Given the description of an element on the screen output the (x, y) to click on. 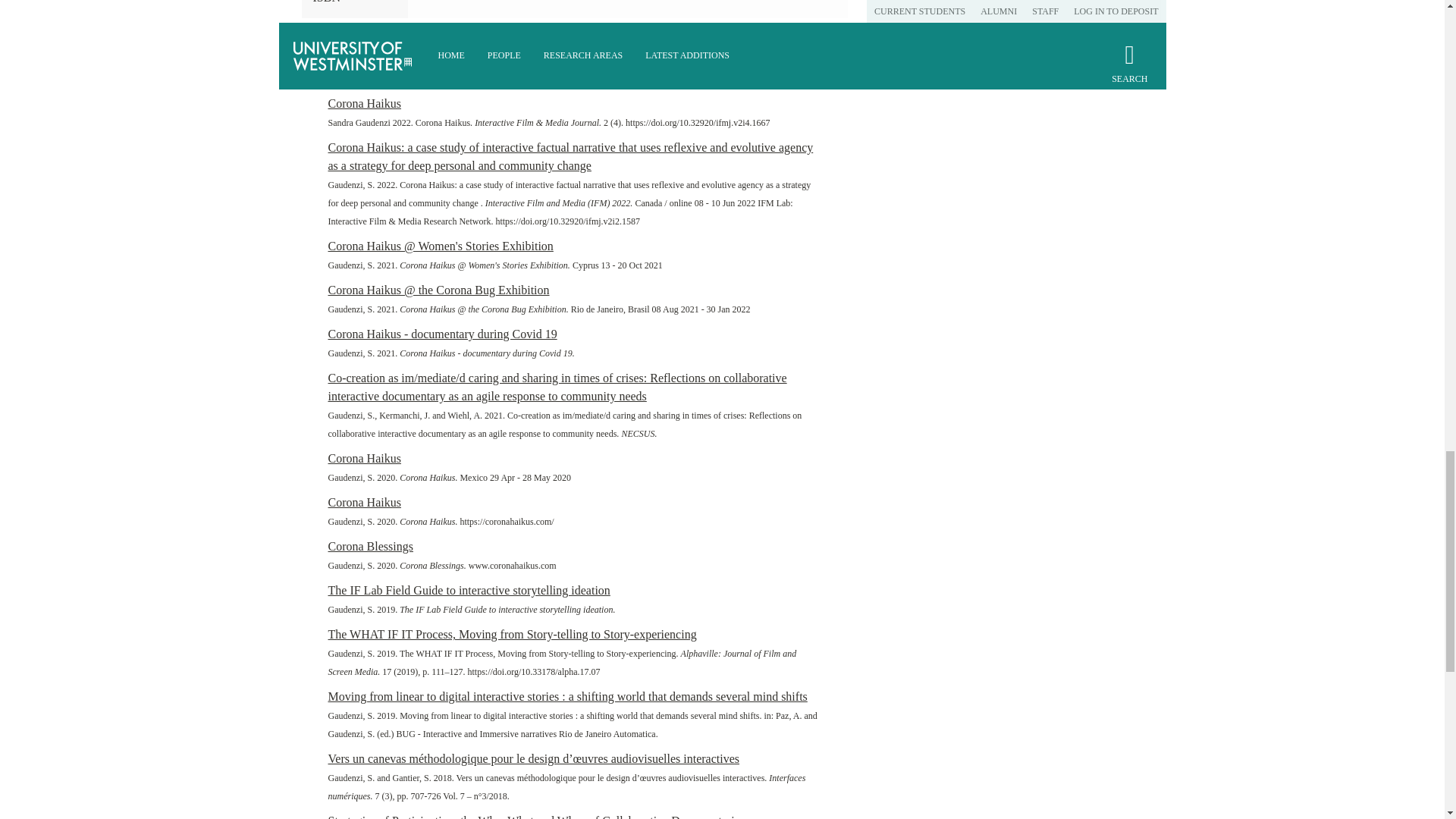
Corona Blessings (369, 545)
Corona Haikus (363, 502)
Corona Haikus - documentary during Covid 19 (441, 333)
Corona Haikus (363, 103)
The IF Lab Field Guide to interactive storytelling ideation (468, 590)
Corona Haikus (363, 458)
